Given the description of an element on the screen output the (x, y) to click on. 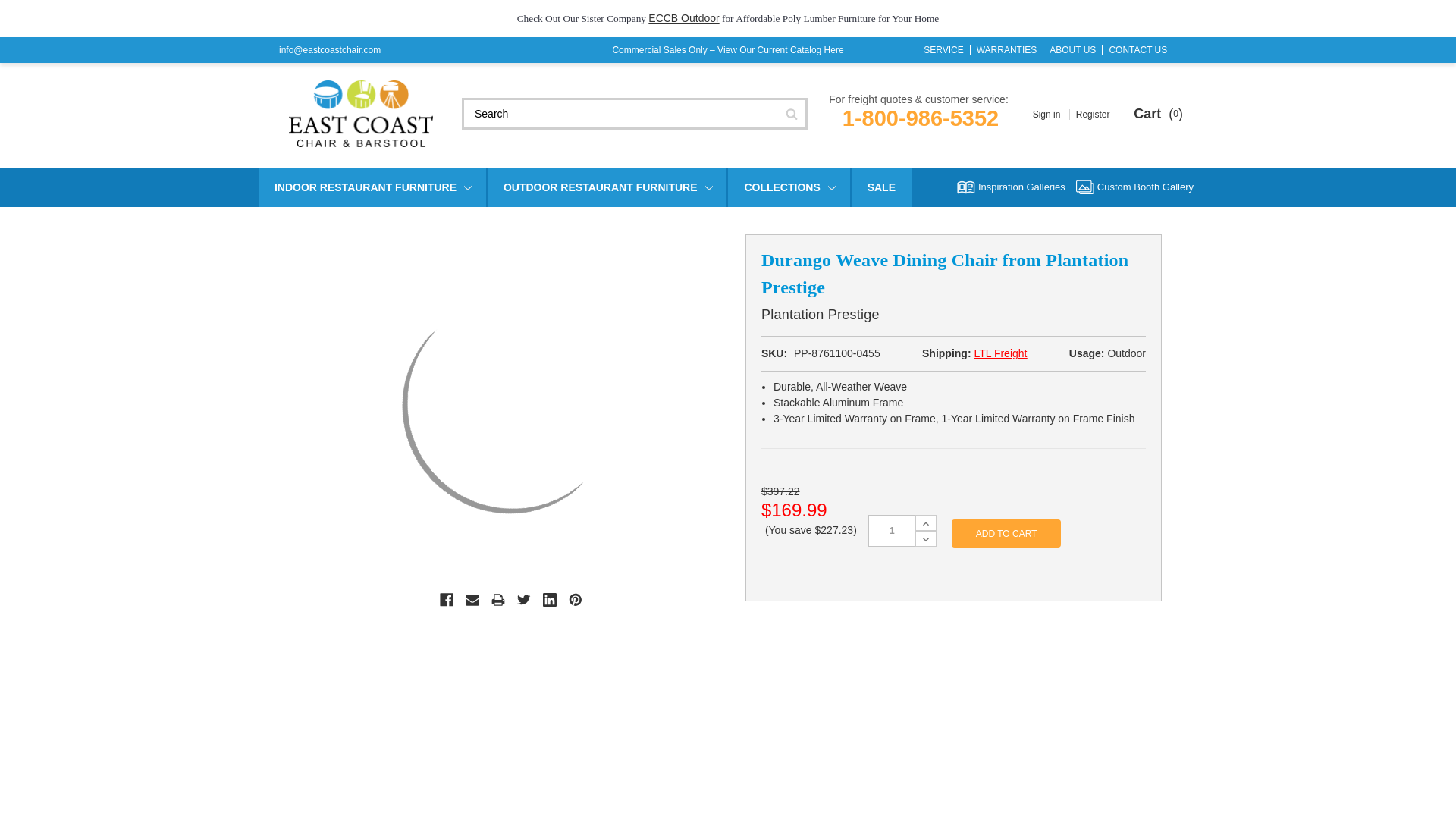
CONTACT US (1137, 49)
Sign in (1048, 113)
View Our Current Catalog Here (780, 50)
1-800-986-5352 (920, 118)
OUTDOOR RESTAURANT FURNITURE (606, 187)
WARRANTIES (1007, 49)
INDOOR RESTAURANT FURNITURE (372, 187)
Register (1093, 113)
ECCB Outdoor (683, 18)
ABOUT US (1072, 49)
